Given the description of an element on the screen output the (x, y) to click on. 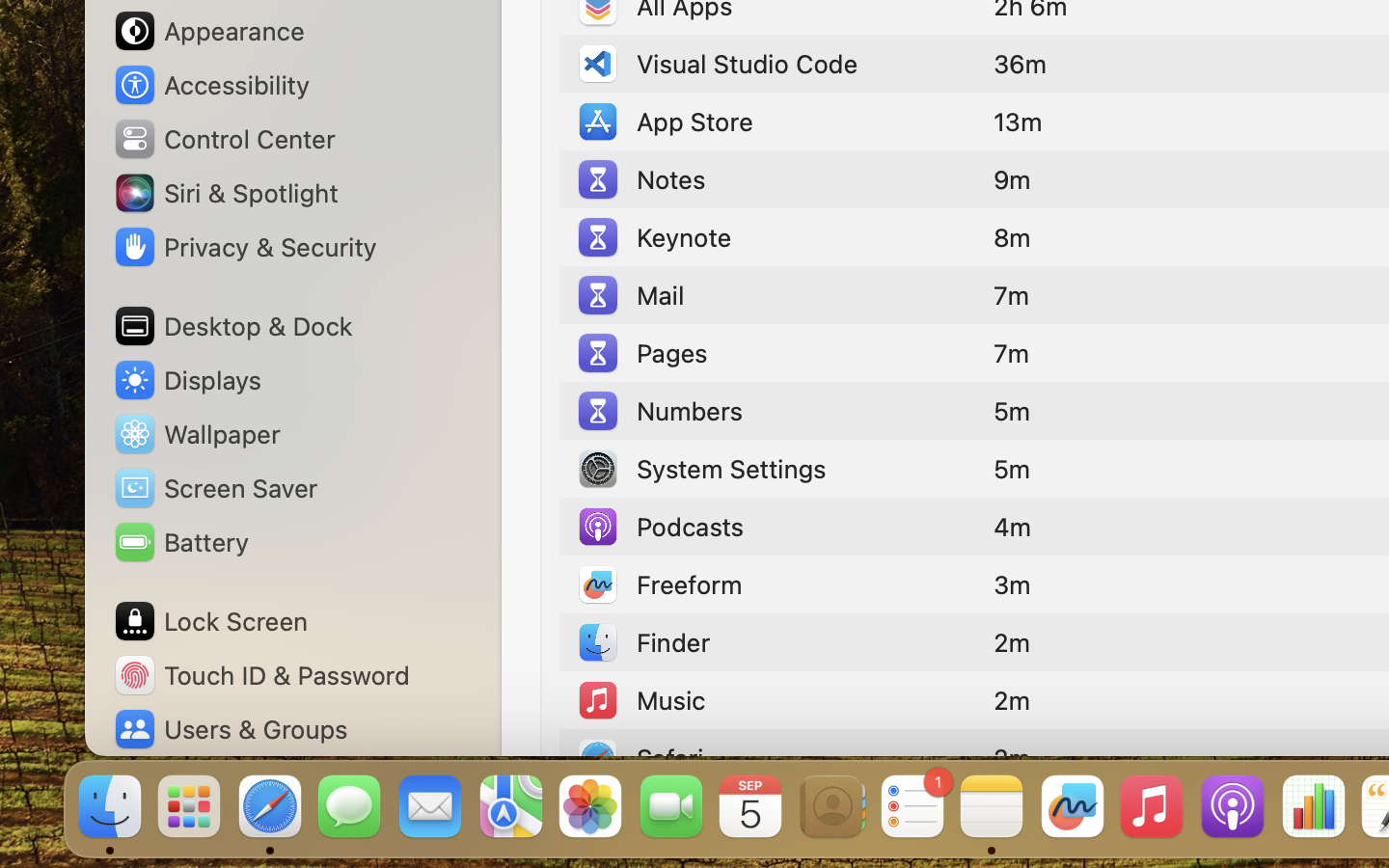
Podcasts Element type: AXStaticText (659, 526)
9m Element type: AXStaticText (1011, 178)
System Settings Element type: AXStaticText (699, 468)
Keynote Element type: AXStaticText (652, 237)
Finder Element type: AXStaticText (641, 642)
